Given the description of an element on the screen output the (x, y) to click on. 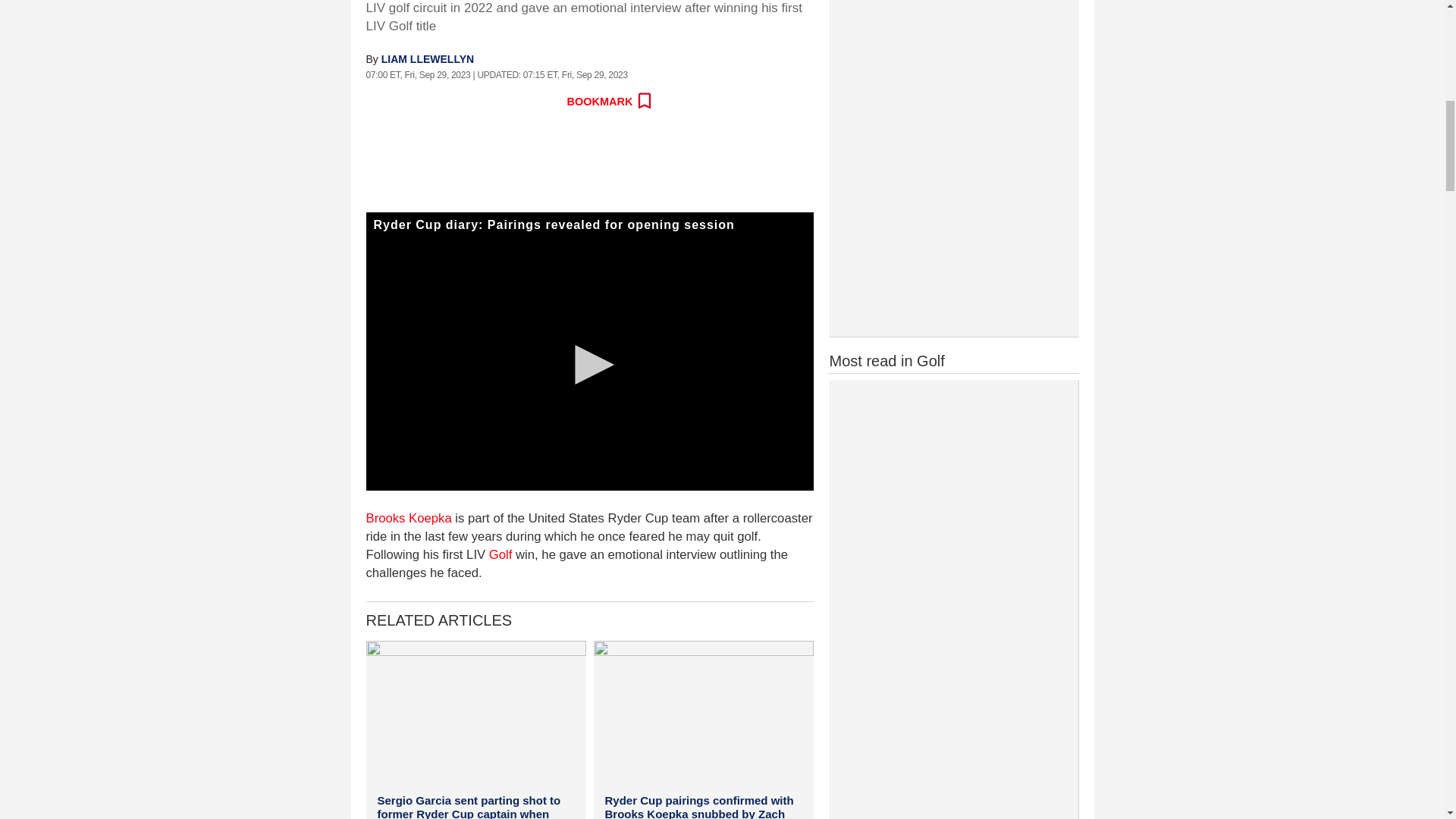
Share on Pinterest (511, 101)
Share on Reddit (445, 101)
LIAM LLEWELLYN (427, 59)
Share on LinkedIn (478, 101)
Share on Twitter (411, 101)
Golf (500, 554)
Copy link (544, 101)
Share on Facebook (378, 101)
